Given the description of an element on the screen output the (x, y) to click on. 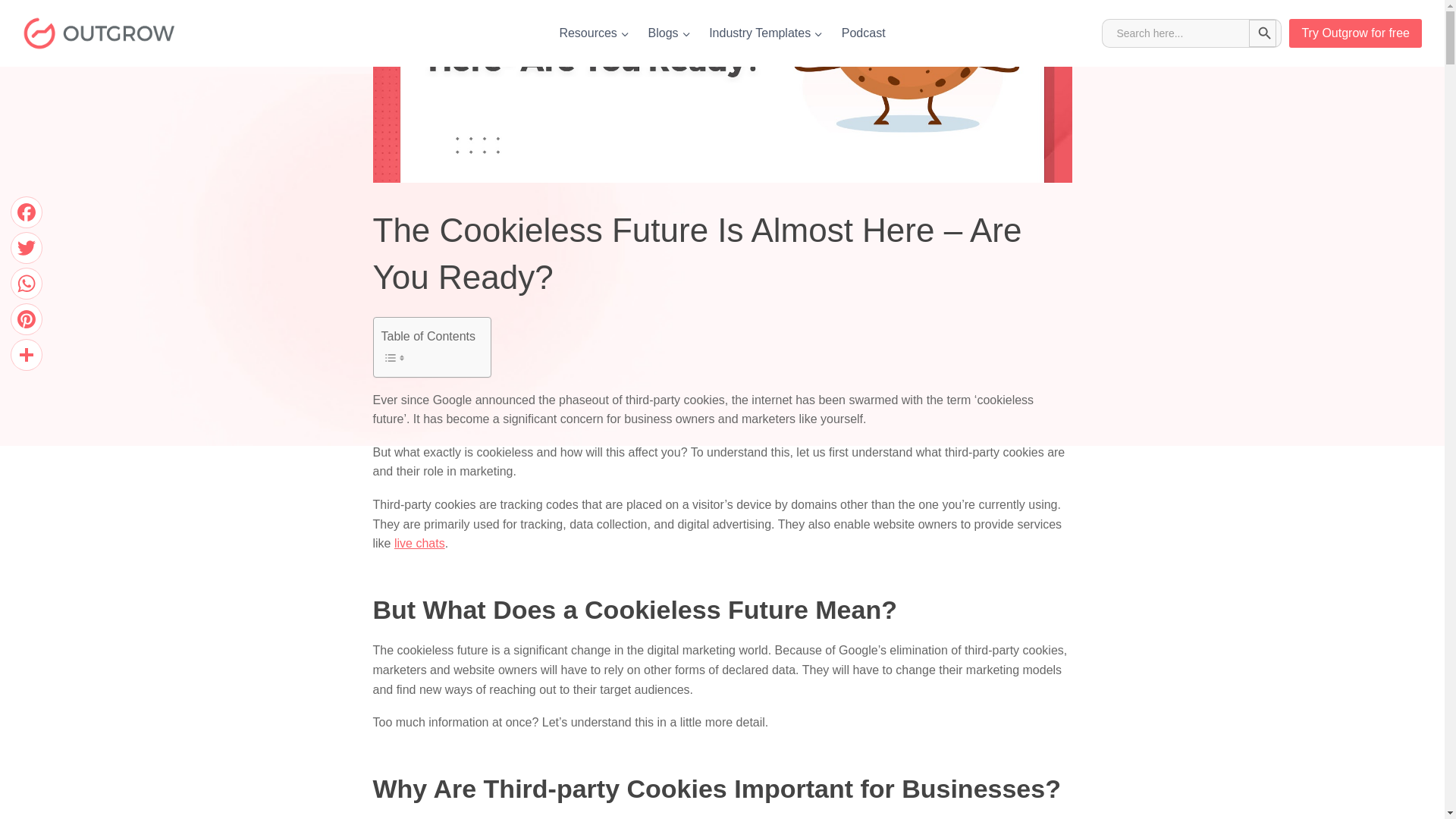
Resources (594, 33)
Blogs (669, 33)
Pinterest (26, 318)
Facebook (26, 212)
Search Button (1262, 32)
Podcast (862, 33)
Try Outgrow for free (1355, 32)
Industry Templates (766, 33)
WhatsApp (26, 283)
Twitter (26, 247)
